Given the description of an element on the screen output the (x, y) to click on. 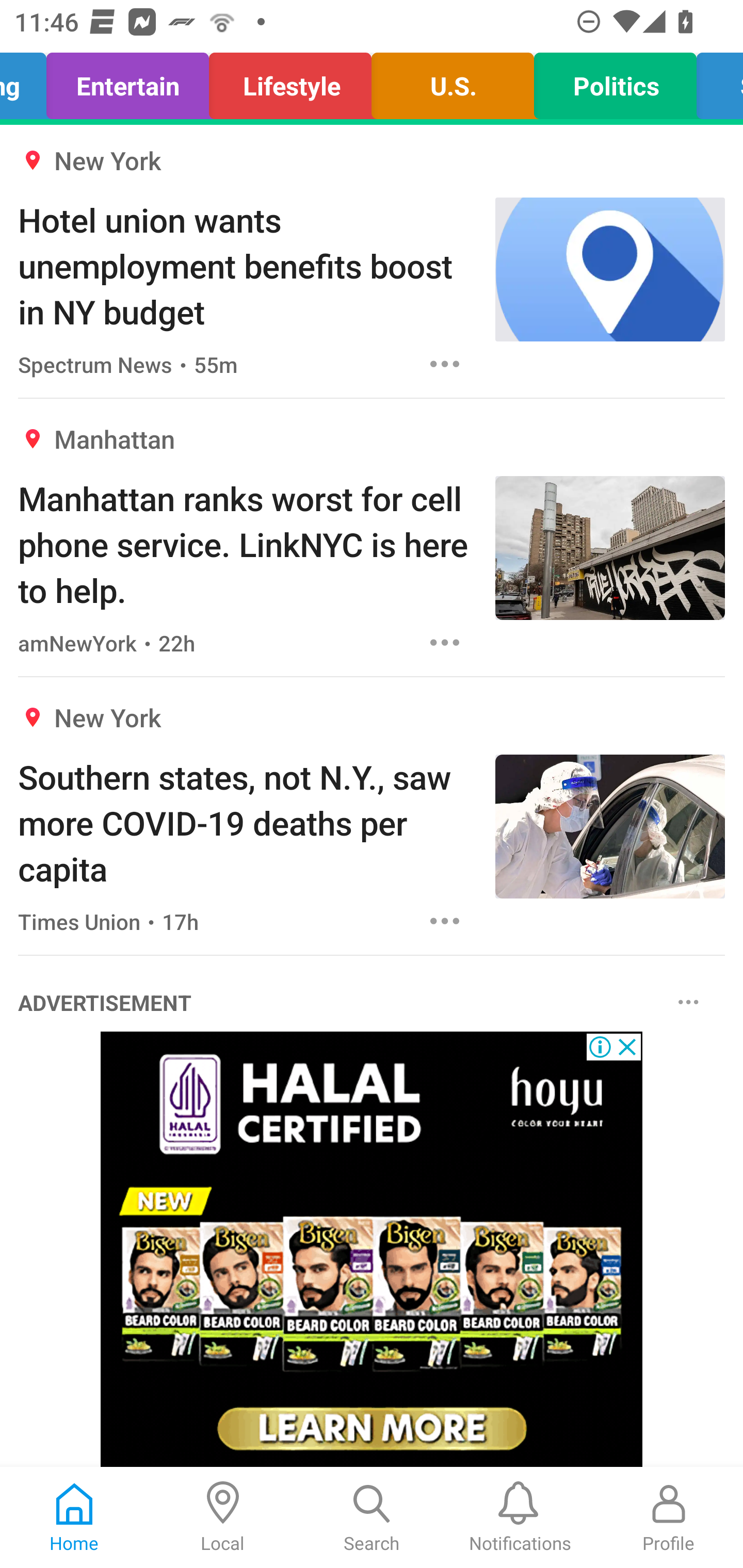
Entertain (127, 81)
Lifestyle (290, 81)
U.S. (452, 81)
Politics (615, 81)
Options (444, 363)
Options (444, 642)
Options (444, 921)
Options (688, 1002)
28 (371, 1249)
Local (222, 1517)
Search (371, 1517)
Notifications (519, 1517)
Profile (668, 1517)
